Given the description of an element on the screen output the (x, y) to click on. 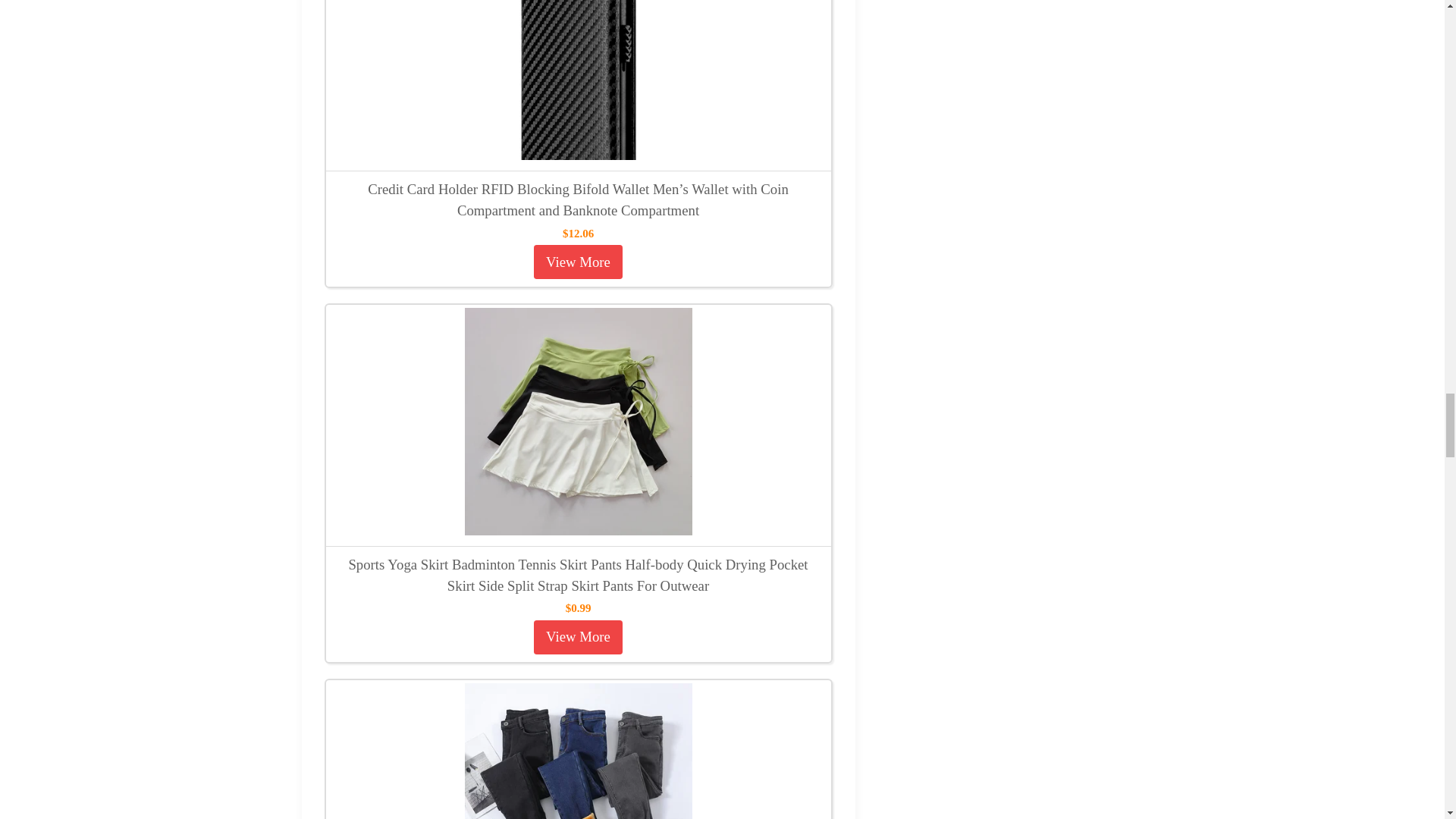
View More (578, 636)
View More (578, 261)
